Given the description of an element on the screen output the (x, y) to click on. 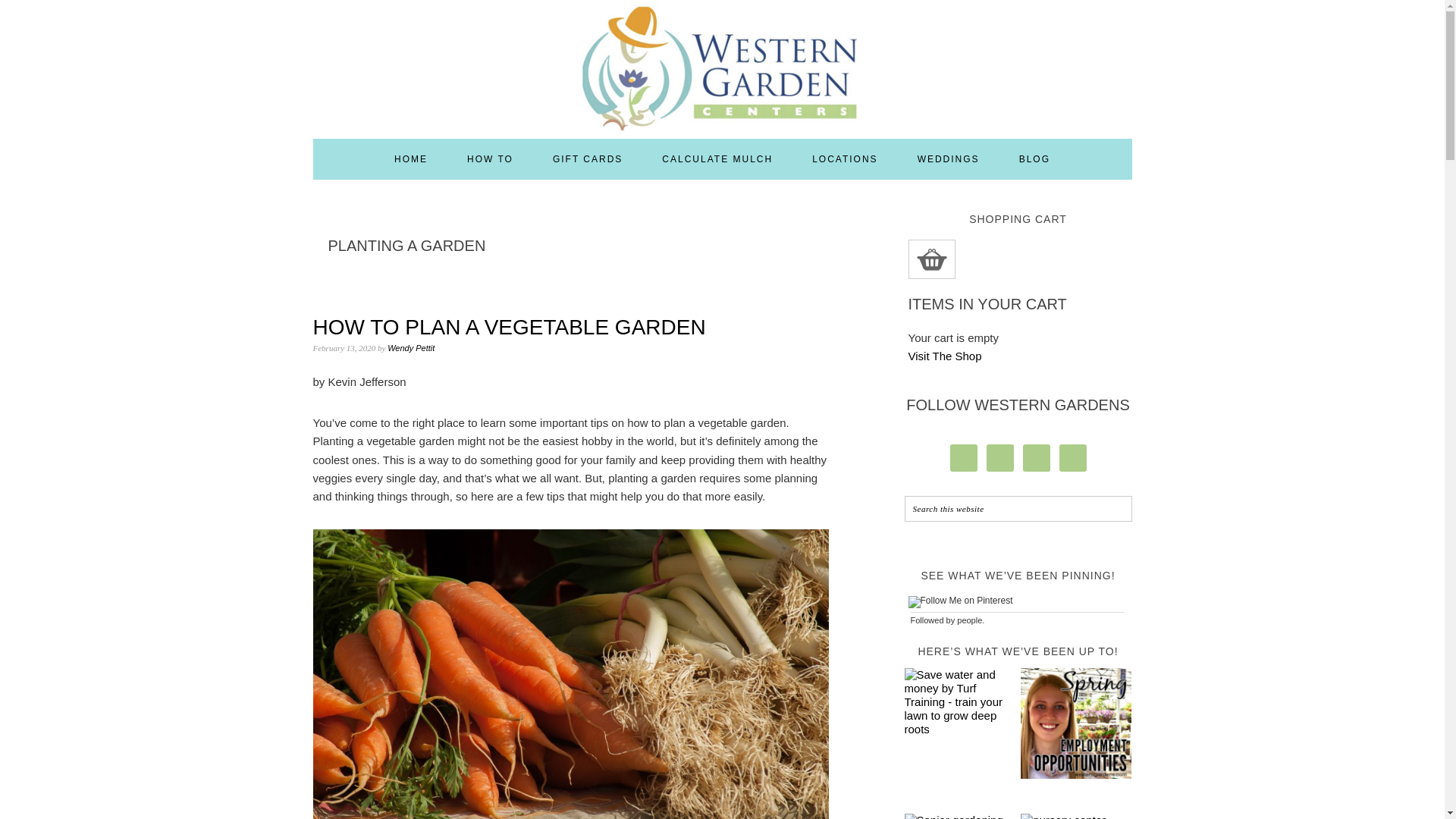
BLOG (1034, 158)
WEDDINGS (948, 158)
GIFT CARDS (588, 158)
Shopping Cart (931, 259)
utah spring jobs at Western Gardens (1075, 725)
CALCULATE MULCH (717, 158)
HOW TO (490, 158)
